Given the description of an element on the screen output the (x, y) to click on. 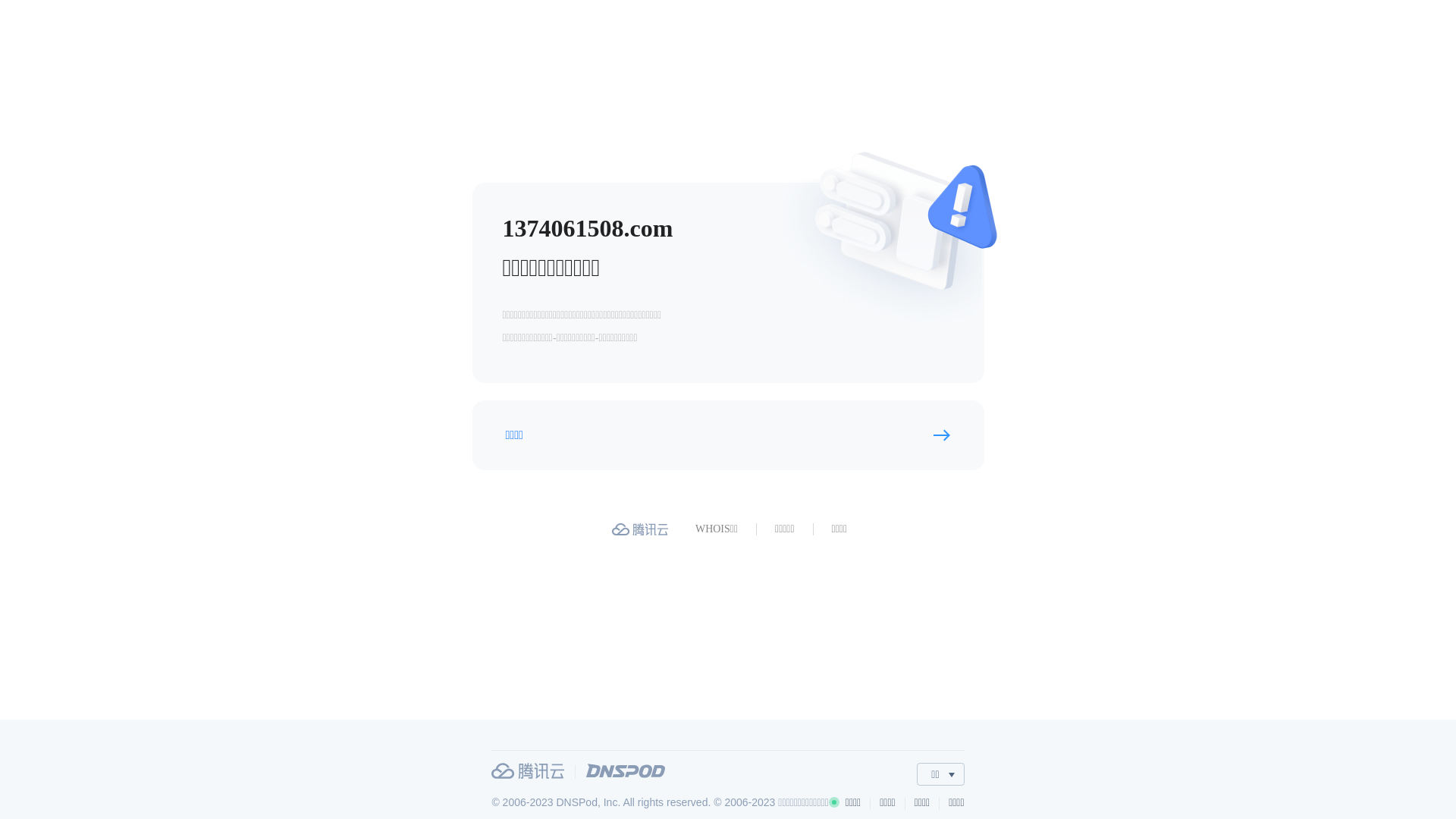
DNSPod Element type: text (625, 770)
